Given the description of an element on the screen output the (x, y) to click on. 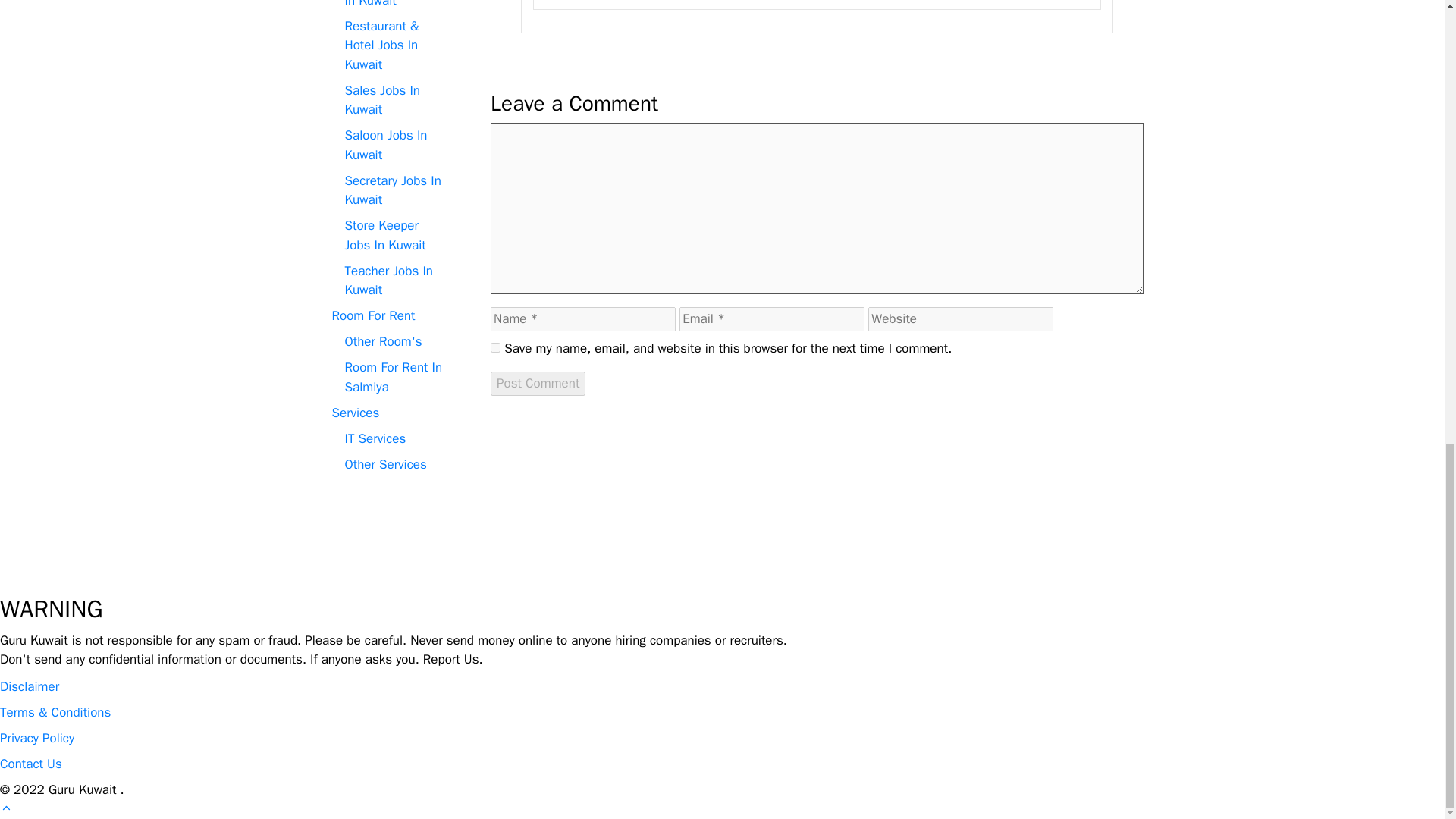
Post Comment (537, 383)
yes (495, 347)
